Given the description of an element on the screen output the (x, y) to click on. 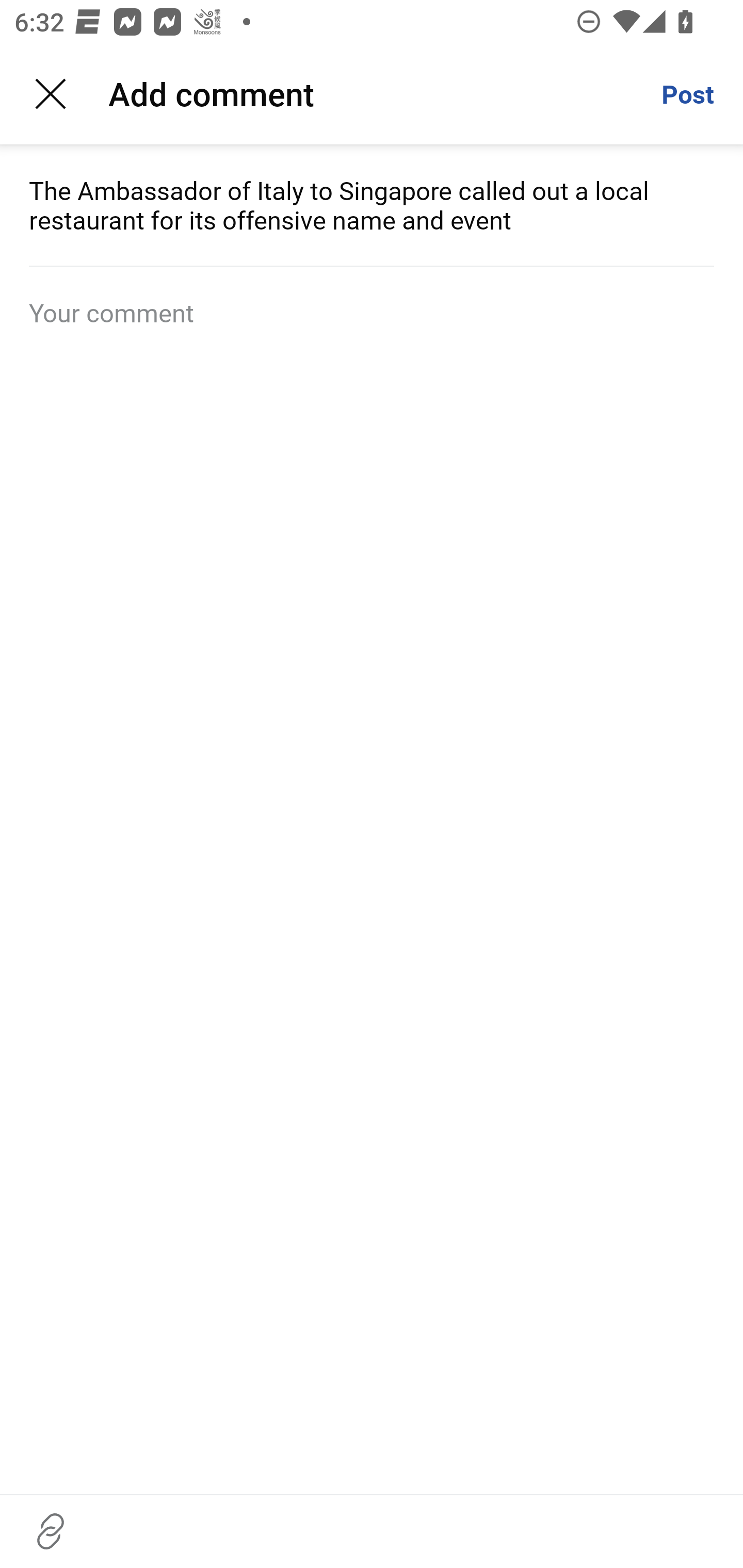
Close (50, 93)
Post (687, 94)
Your comment (371, 312)
Insert a link (50, 1530)
